Given the description of an element on the screen output the (x, y) to click on. 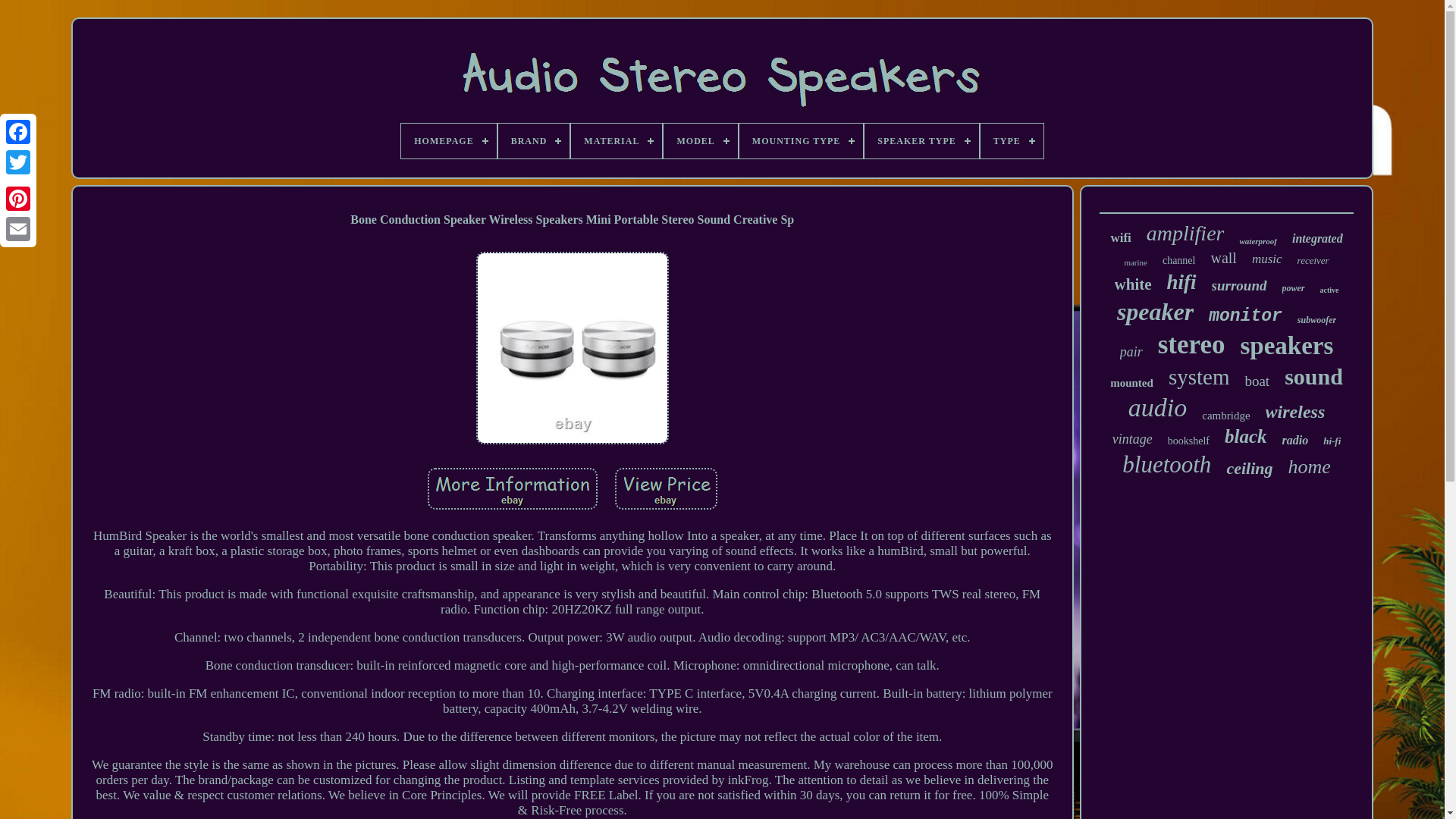
Email (17, 228)
BRAND (533, 140)
HOMEPAGE (448, 140)
MATERIAL (616, 140)
Facebook (17, 132)
